Given the description of an element on the screen output the (x, y) to click on. 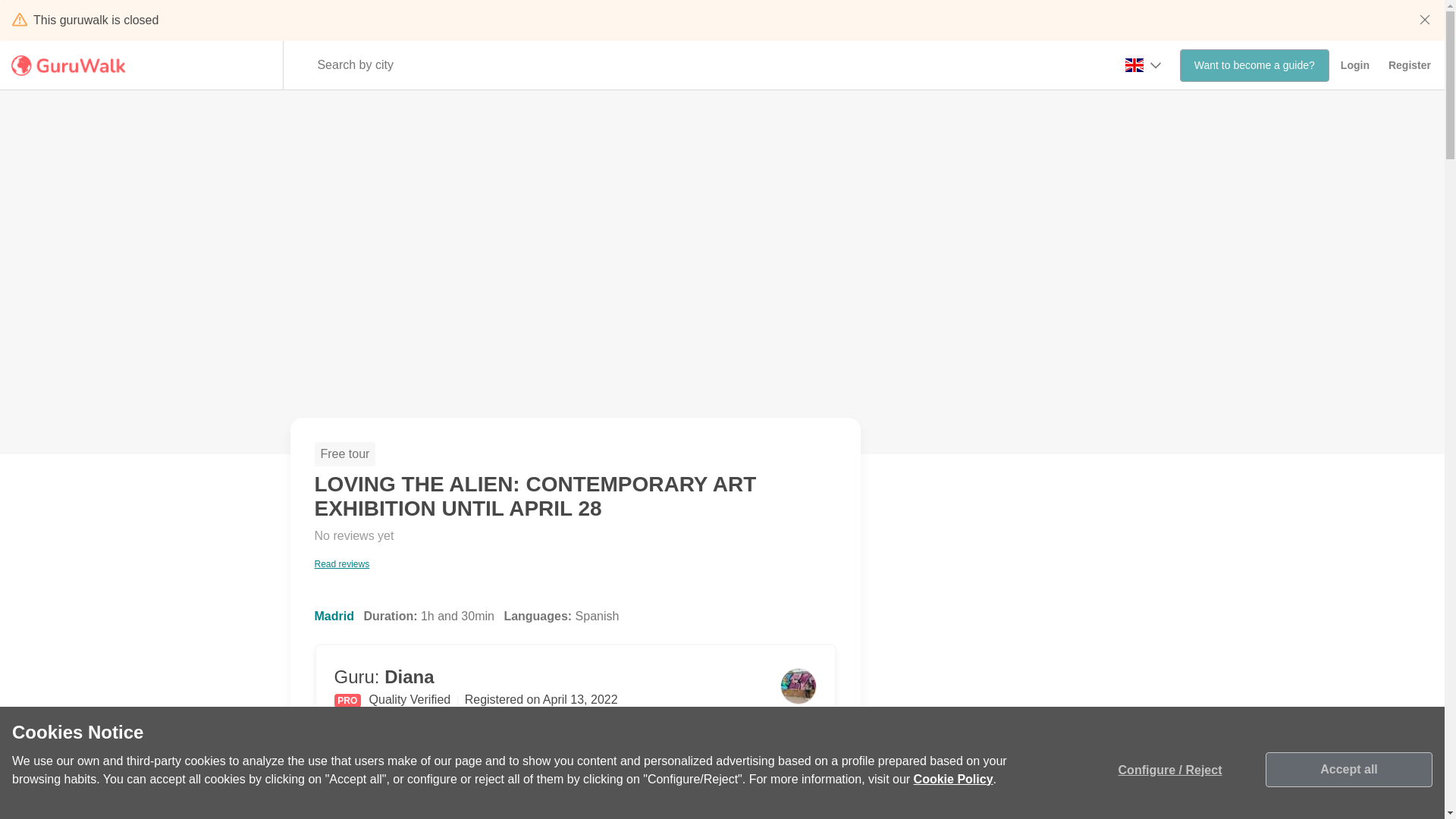
Madrid (333, 615)
GuruWalk - The best free tours around the world (71, 65)
Want to become a guide? (1254, 65)
Register (353, 548)
Diana (1407, 64)
